Given the description of an element on the screen output the (x, y) to click on. 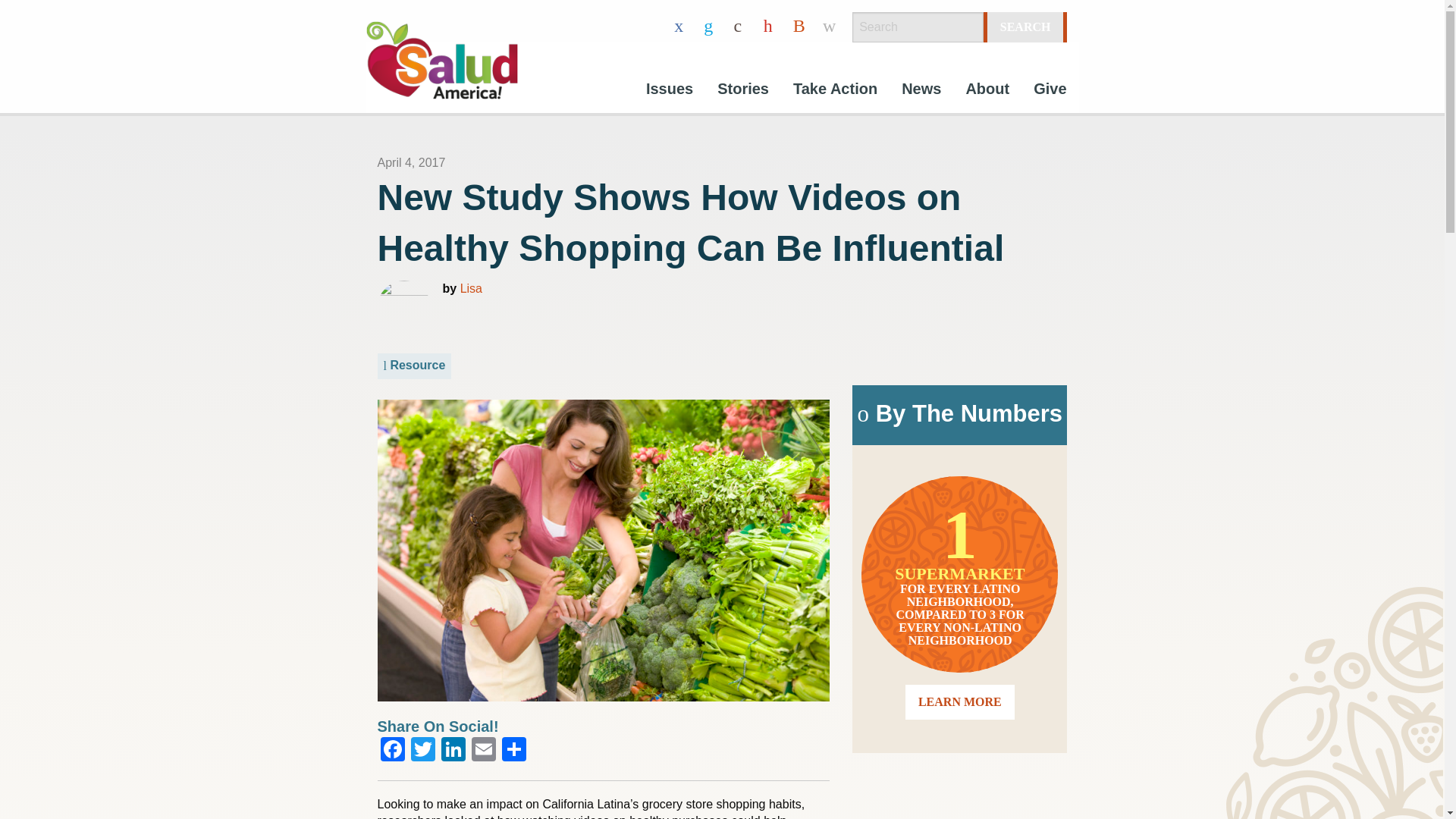
Search (1025, 27)
Give (1050, 90)
Take Action (834, 90)
Issues (668, 90)
Facebook (392, 750)
Search (1025, 27)
LEARN MORE (959, 701)
Stories (742, 90)
Email (483, 750)
Resource (414, 365)
